Given the description of an element on the screen output the (x, y) to click on. 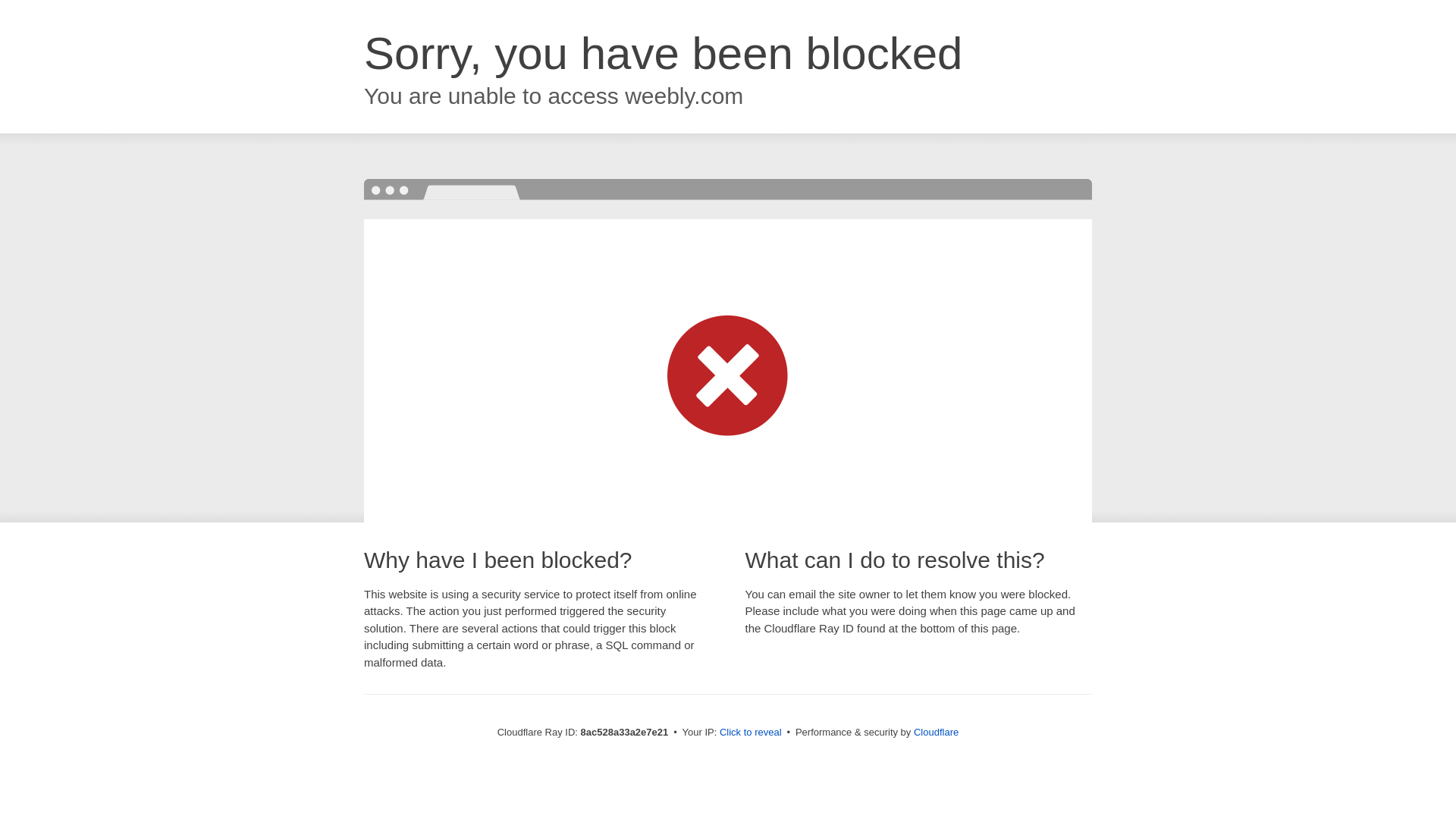
Click to reveal (750, 732)
Cloudflare (936, 731)
